Given the description of an element on the screen output the (x, y) to click on. 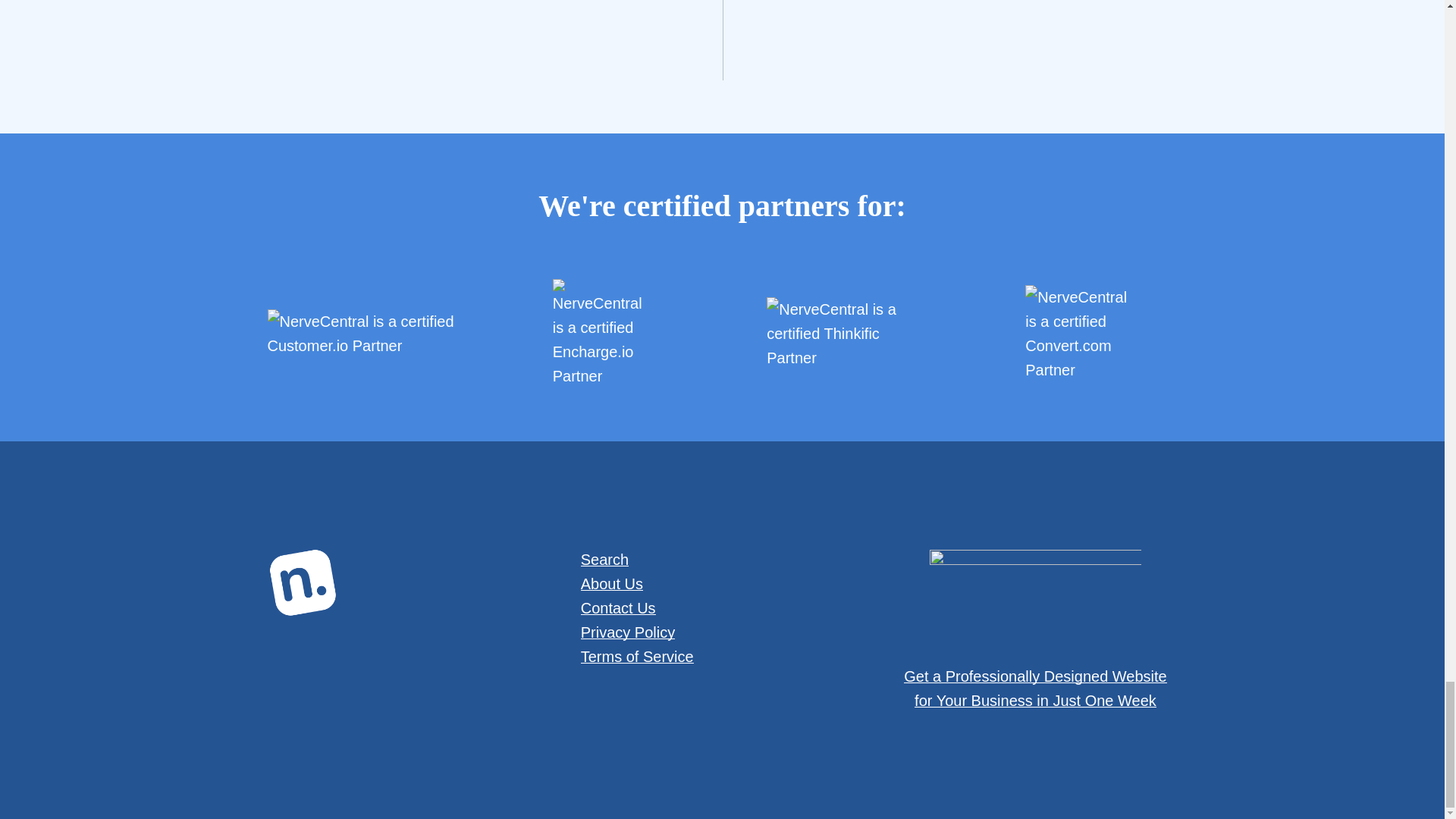
Search (604, 559)
About Us (611, 583)
Privacy Policy (627, 632)
Terms of Service (637, 656)
Contact (618, 607)
Contact Us (618, 607)
Privacy Policy (627, 632)
Search (604, 559)
Terms of Service (637, 656)
